Given the description of an element on the screen output the (x, y) to click on. 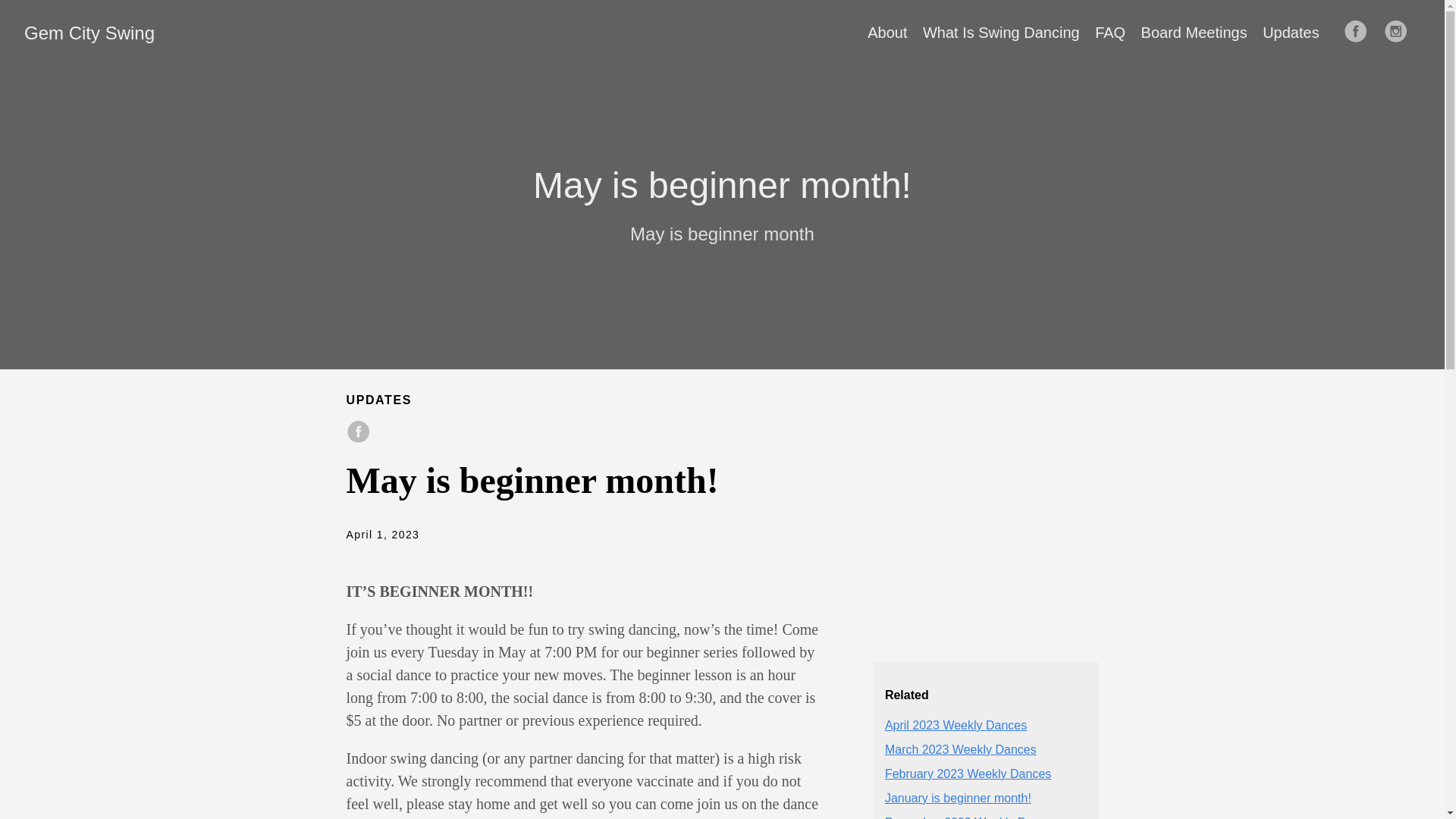
February 2023 Weekly Dances (968, 773)
December 2023 Weekly Dances (971, 817)
Gem City Swing (89, 33)
FAQ (1109, 32)
April 2023 Weekly Dances (955, 725)
Updates page (1290, 32)
About page (887, 32)
January is beginner month! (957, 797)
March 2023 Weekly Dances (960, 748)
What Is Swing Dancing page (1001, 32)
Board Meetings (1194, 32)
About (887, 32)
Facebook link (1360, 31)
Board Meetings page (1194, 32)
Updates (1290, 32)
